Given the description of an element on the screen output the (x, y) to click on. 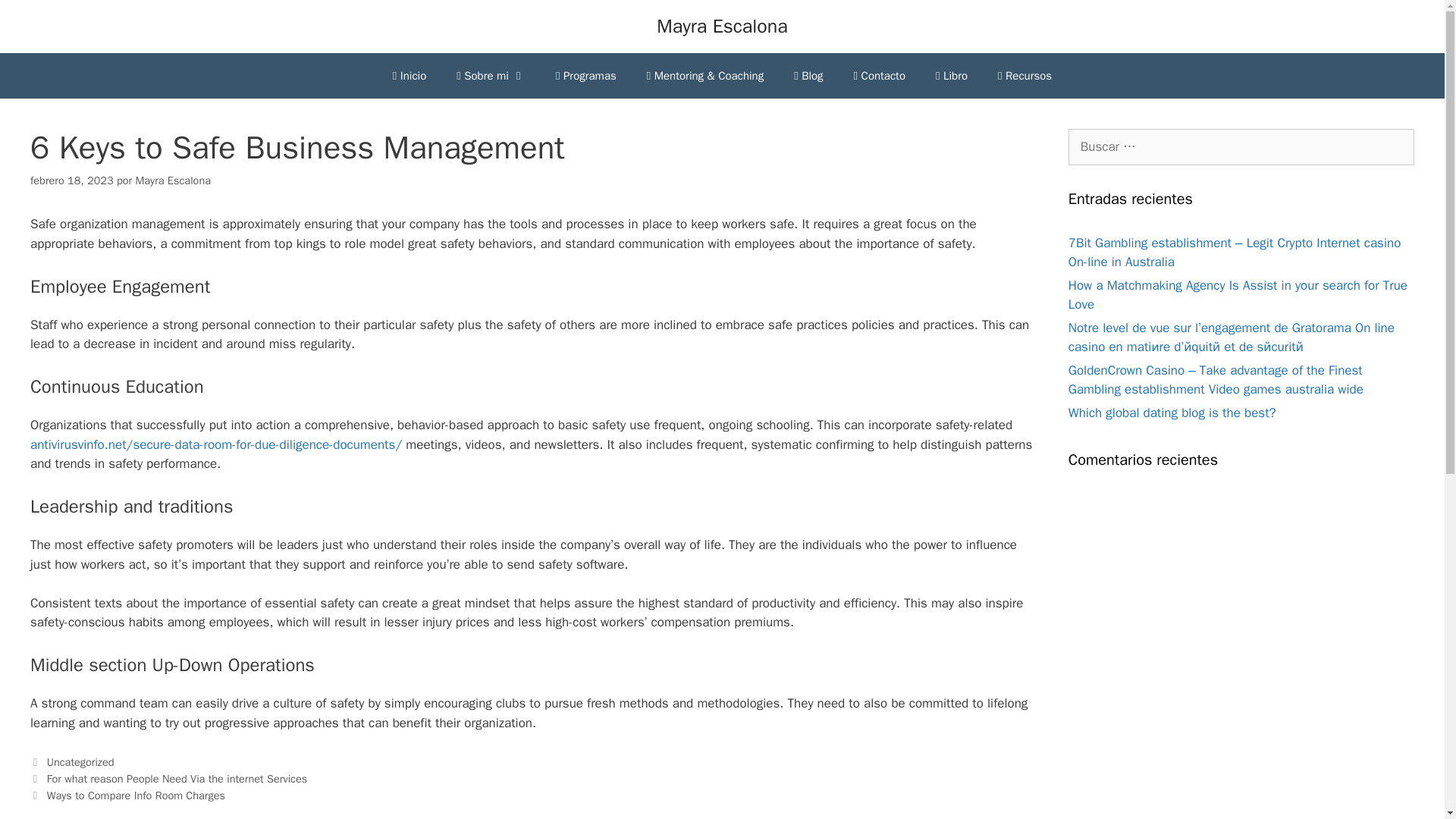
Anterior (168, 778)
Mayra Escalona (172, 180)
Blog (808, 75)
Buscar (34, 18)
Inicio (409, 75)
Libro (951, 75)
Mayra Escalona (721, 25)
Buscar: (1240, 146)
Ver todas las entradas de Mayra Escalona (172, 180)
For what reason People Need Via the internet Services (176, 778)
Contacto (879, 75)
Which global dating blog is the best? (1172, 412)
Ways to Compare Info Room Charges (135, 795)
Sobre mi (490, 75)
